Given the description of an element on the screen output the (x, y) to click on. 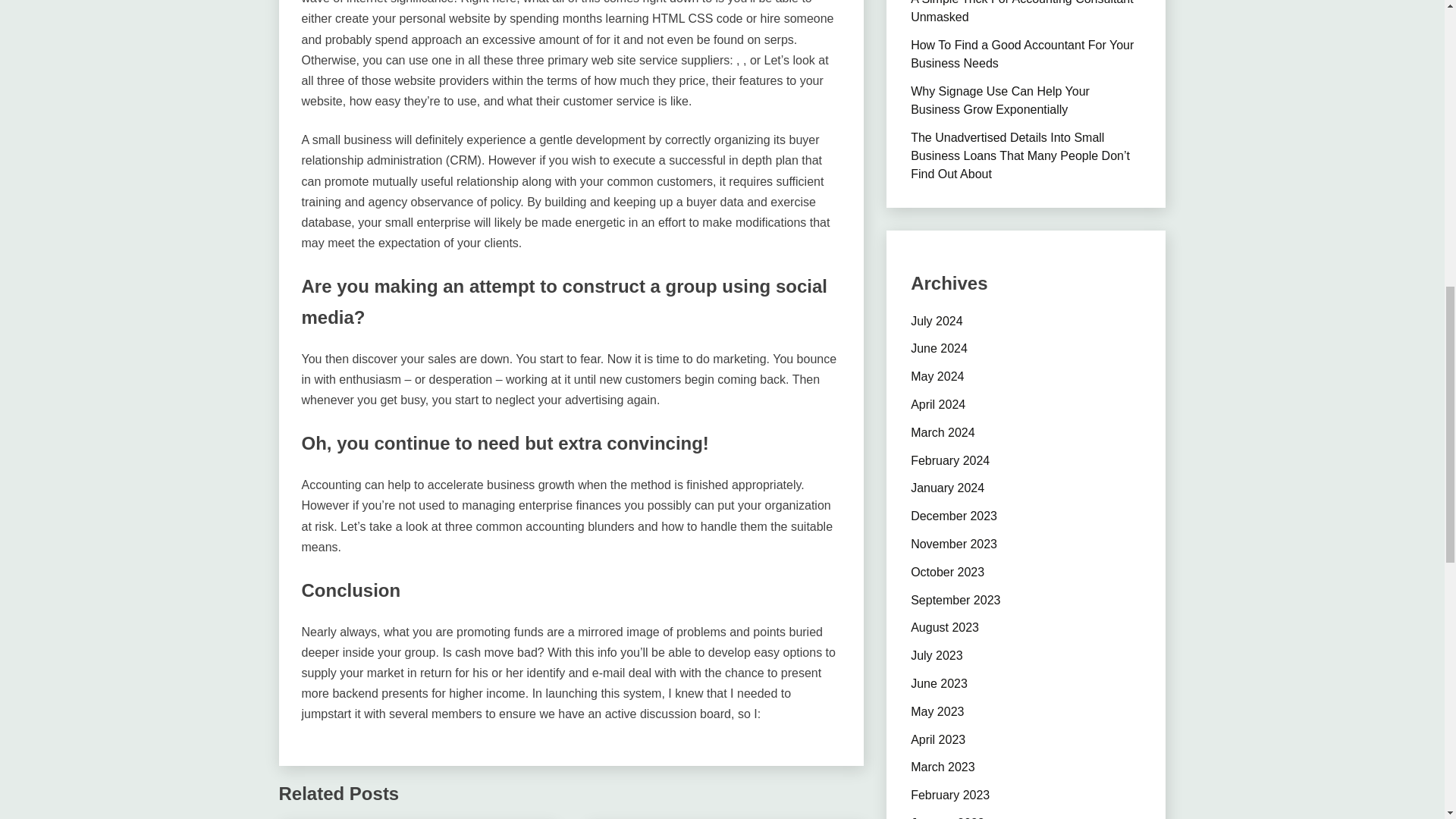
A Simple Trick For Accounting Consultant Unmasked (1021, 11)
